Given the description of an element on the screen output the (x, y) to click on. 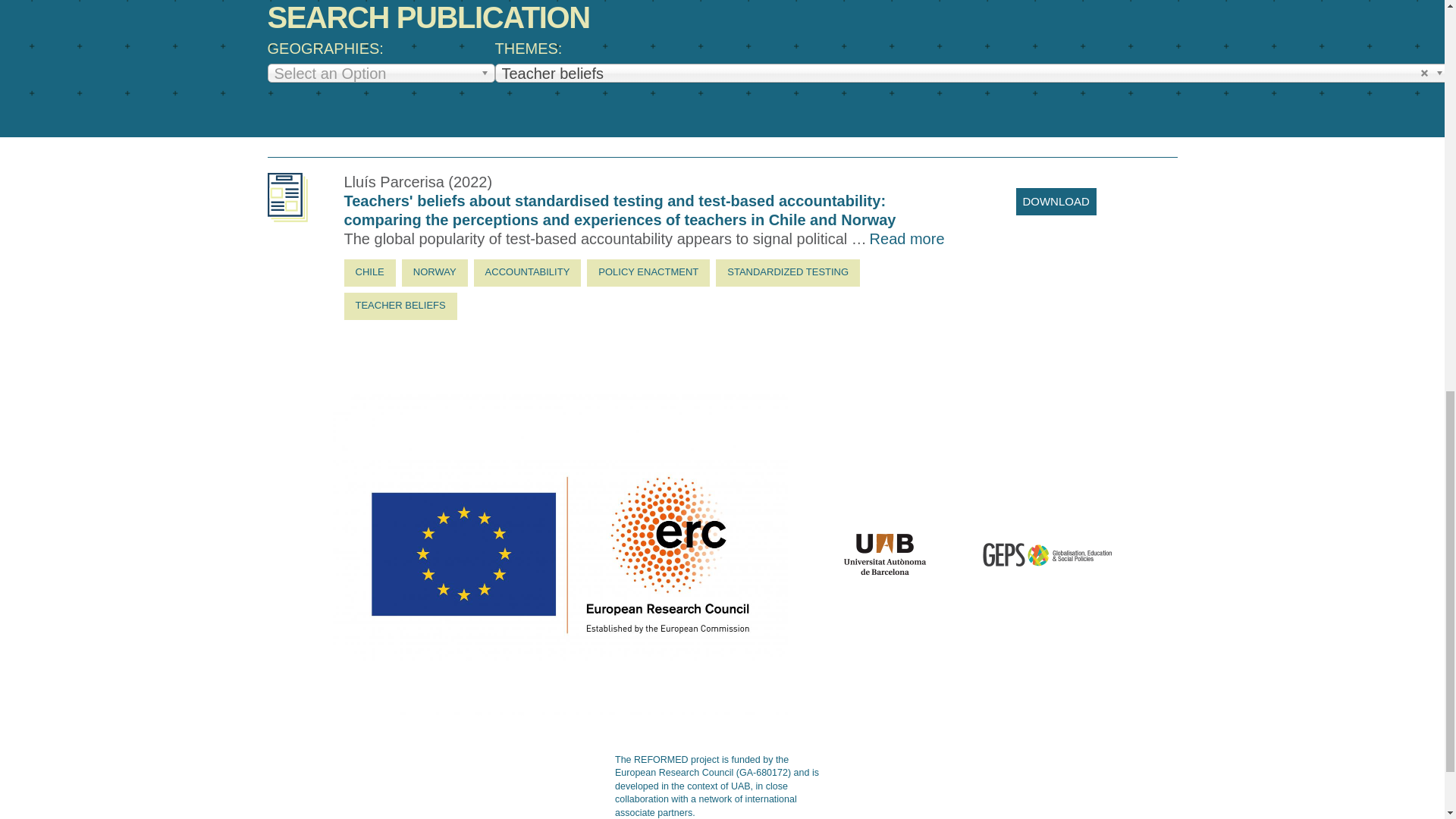
ACCOUNTABILITY (527, 272)
DOWNLOAD (1056, 201)
Select an Option (380, 72)
NORWAY (434, 272)
CHILE (369, 272)
Teacher beliefs (971, 72)
POLICY ENACTMENT (648, 272)
TEACHER BELIEFS (400, 306)
STANDARDIZED TESTING (788, 272)
